Given the description of an element on the screen output the (x, y) to click on. 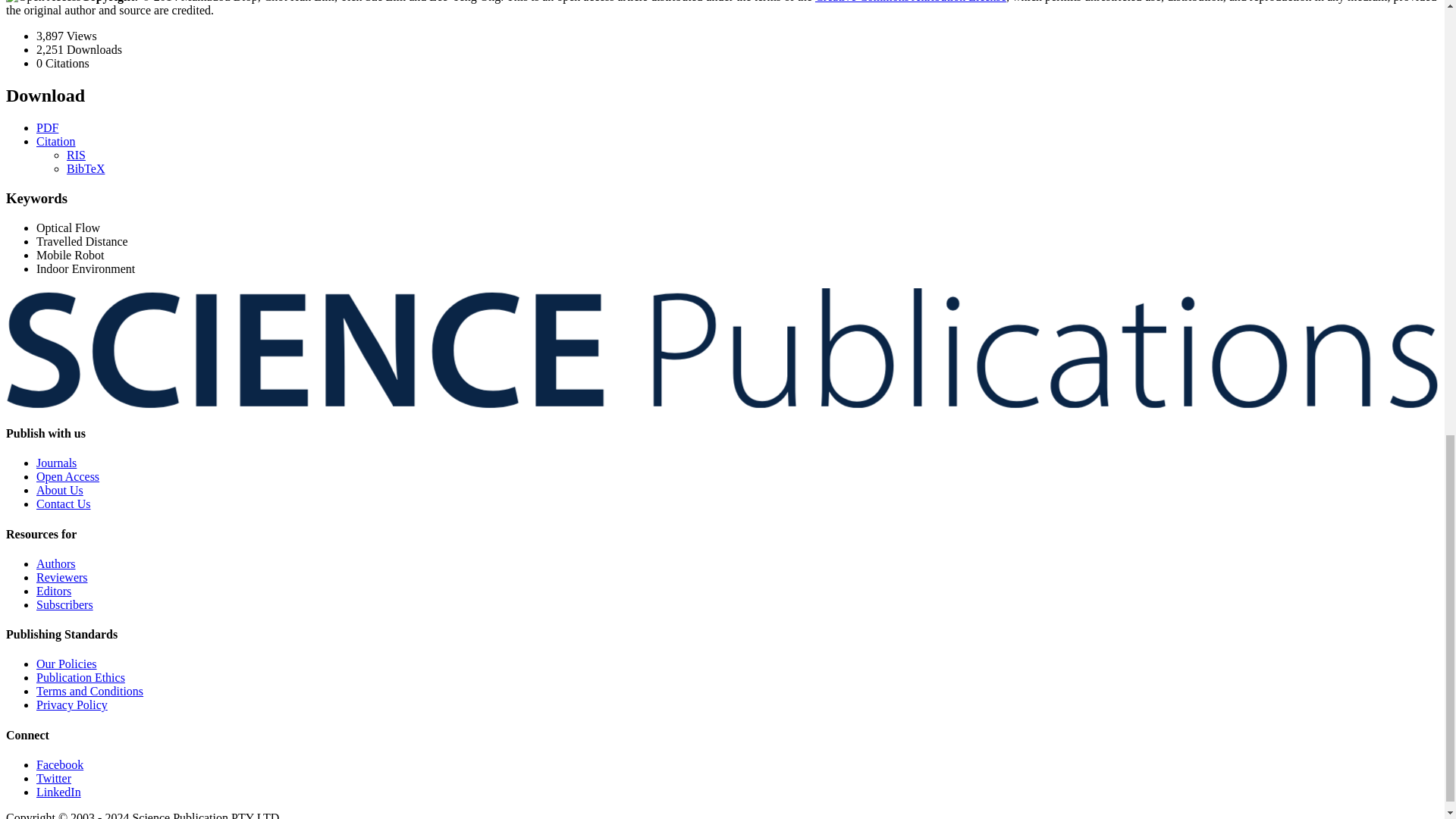
Citation (55, 141)
Creative Commons Attribution License (910, 1)
RIS (75, 154)
BibTeX (85, 168)
PDF (47, 127)
